Given the description of an element on the screen output the (x, y) to click on. 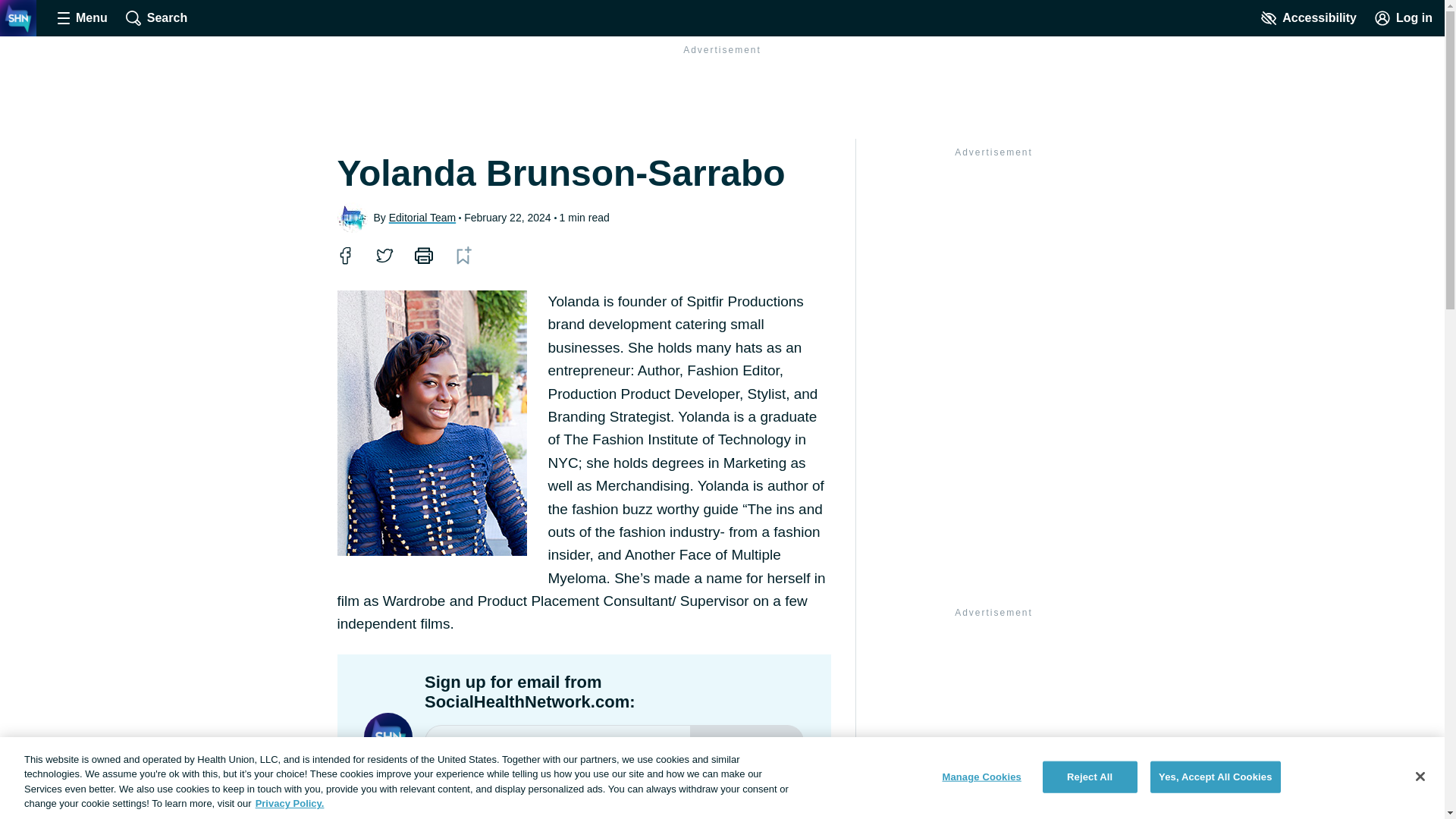
print page (422, 255)
Bookmark for later (461, 255)
3rd party ad content (721, 94)
Share to Twitter (383, 255)
Share to Facebook (343, 255)
3rd party ad content (992, 721)
3rd party ad content (992, 257)
Menu (82, 18)
